Given the description of an element on the screen output the (x, y) to click on. 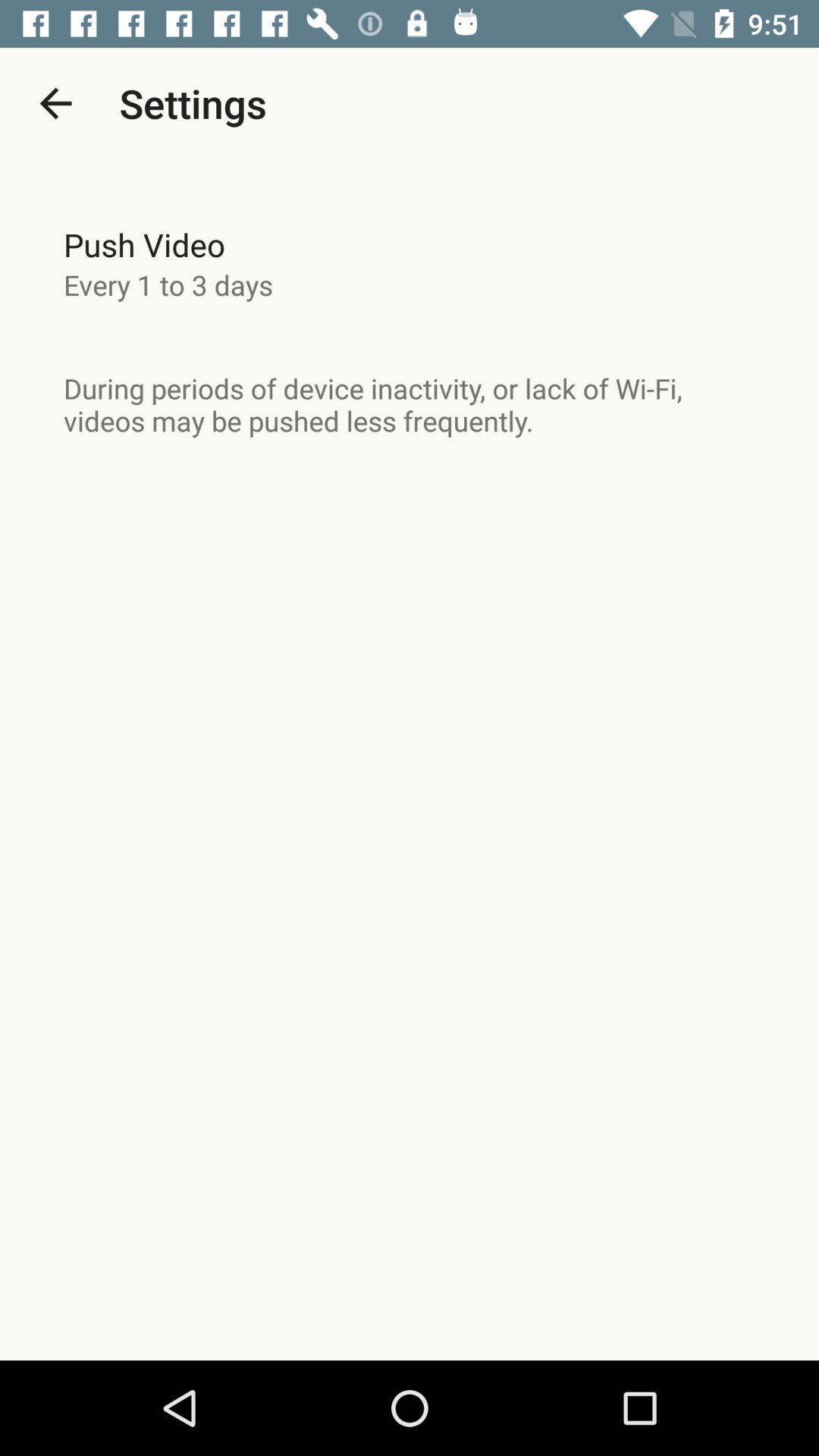
tap during periods of icon (409, 404)
